Given the description of an element on the screen output the (x, y) to click on. 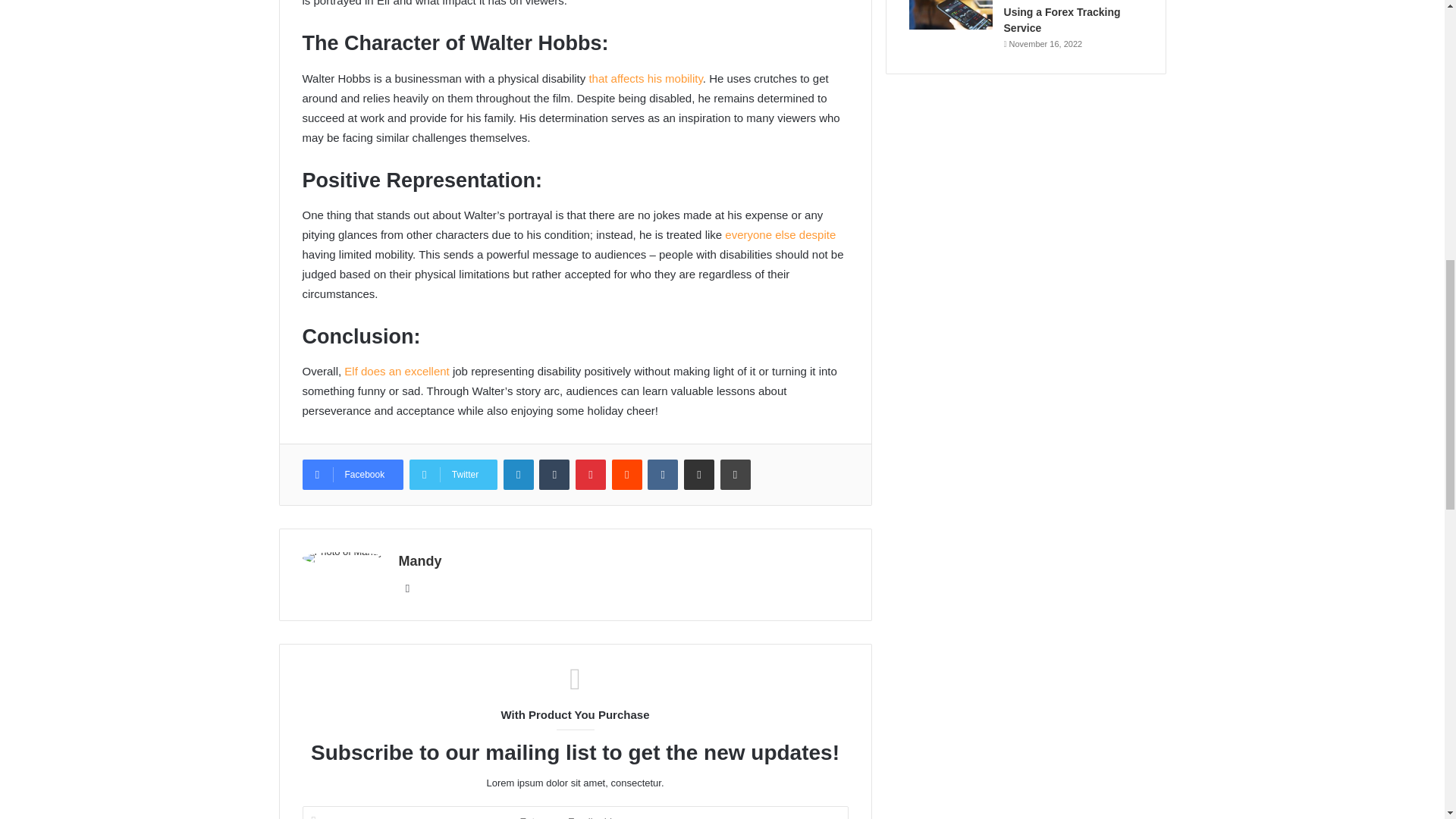
Tumblr (553, 474)
everyone else despite (778, 234)
Elf does an excellent (395, 370)
Facebook (352, 474)
Reddit (626, 474)
Twitter (453, 474)
Facebook (352, 474)
that affects his mobility (644, 78)
VKontakte (662, 474)
Share via Email (699, 474)
LinkedIn (518, 474)
Pinterest (590, 474)
